Given the description of an element on the screen output the (x, y) to click on. 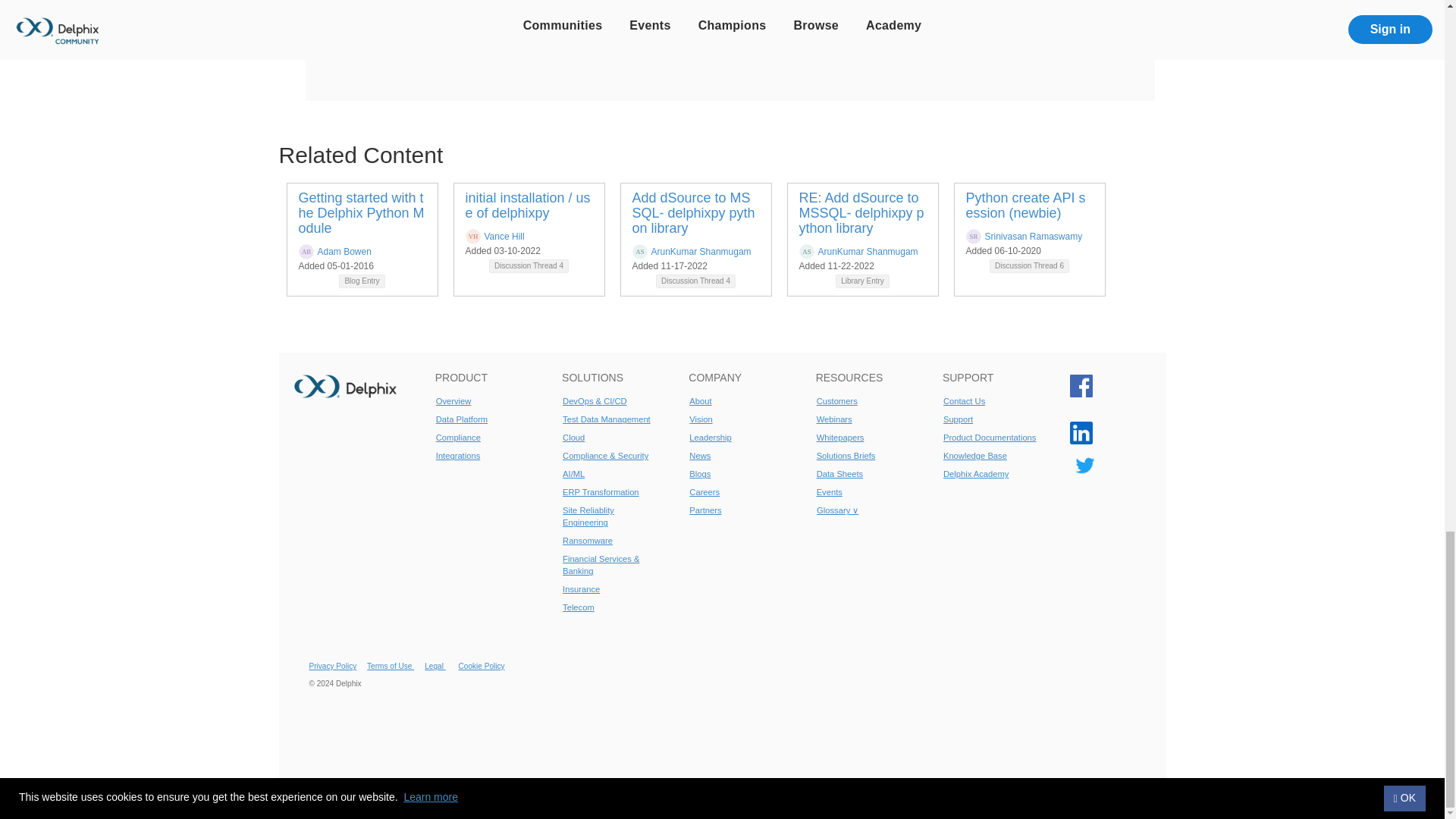
Getting started with the Delphix Python Module (361, 212)
Adam Bowen (344, 251)
Vance Hill (503, 235)
